Given the description of an element on the screen output the (x, y) to click on. 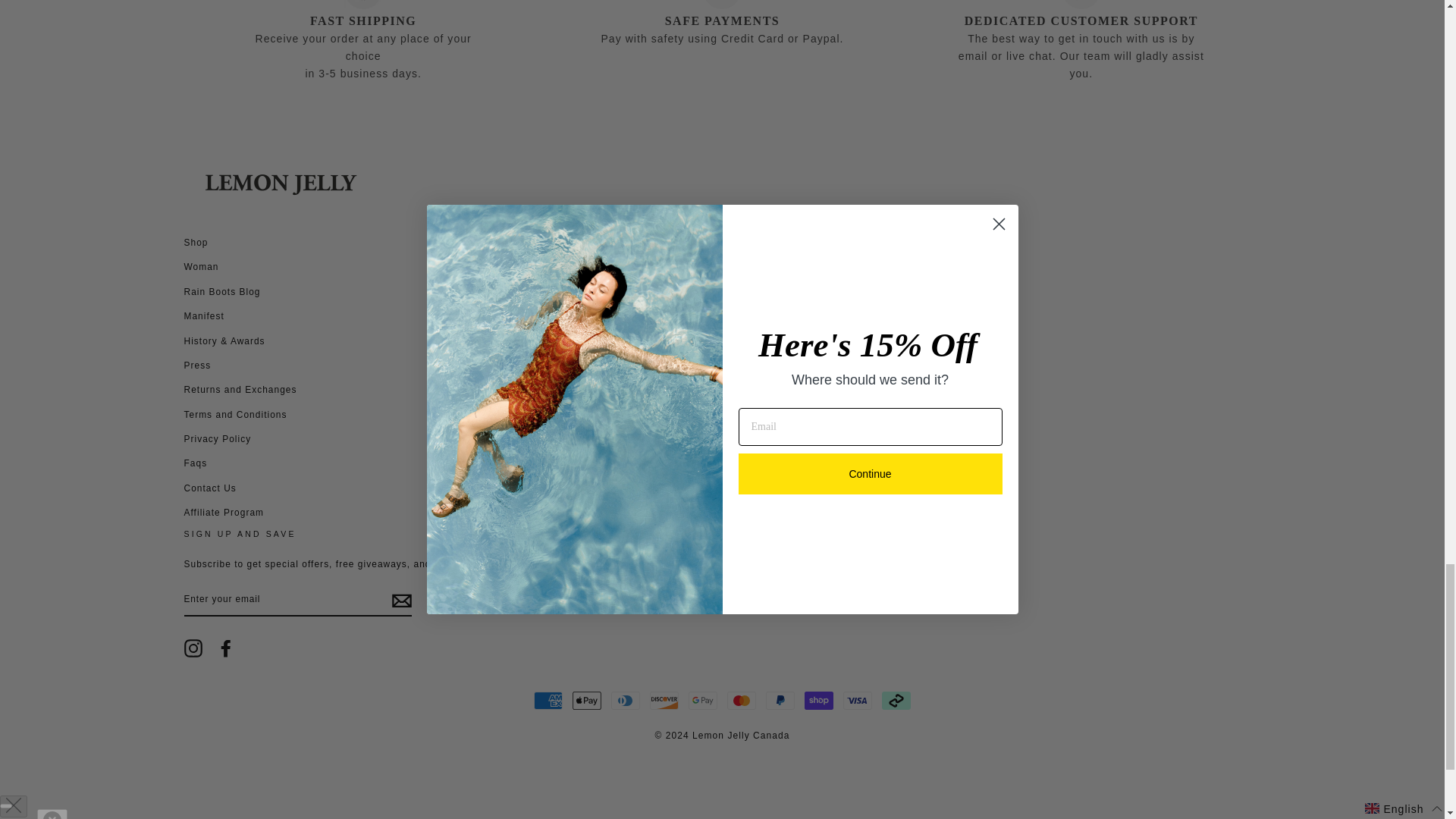
PayPal (779, 700)
Mastercard (740, 700)
Lemon Jelly Canada on Facebook (225, 648)
Lemon Jelly Canada on Instagram (192, 648)
Discover (663, 700)
American Express (548, 700)
Google Pay (702, 700)
Shop Pay (818, 700)
Diners Club (625, 700)
Apple Pay (586, 700)
